Given the description of an element on the screen output the (x, y) to click on. 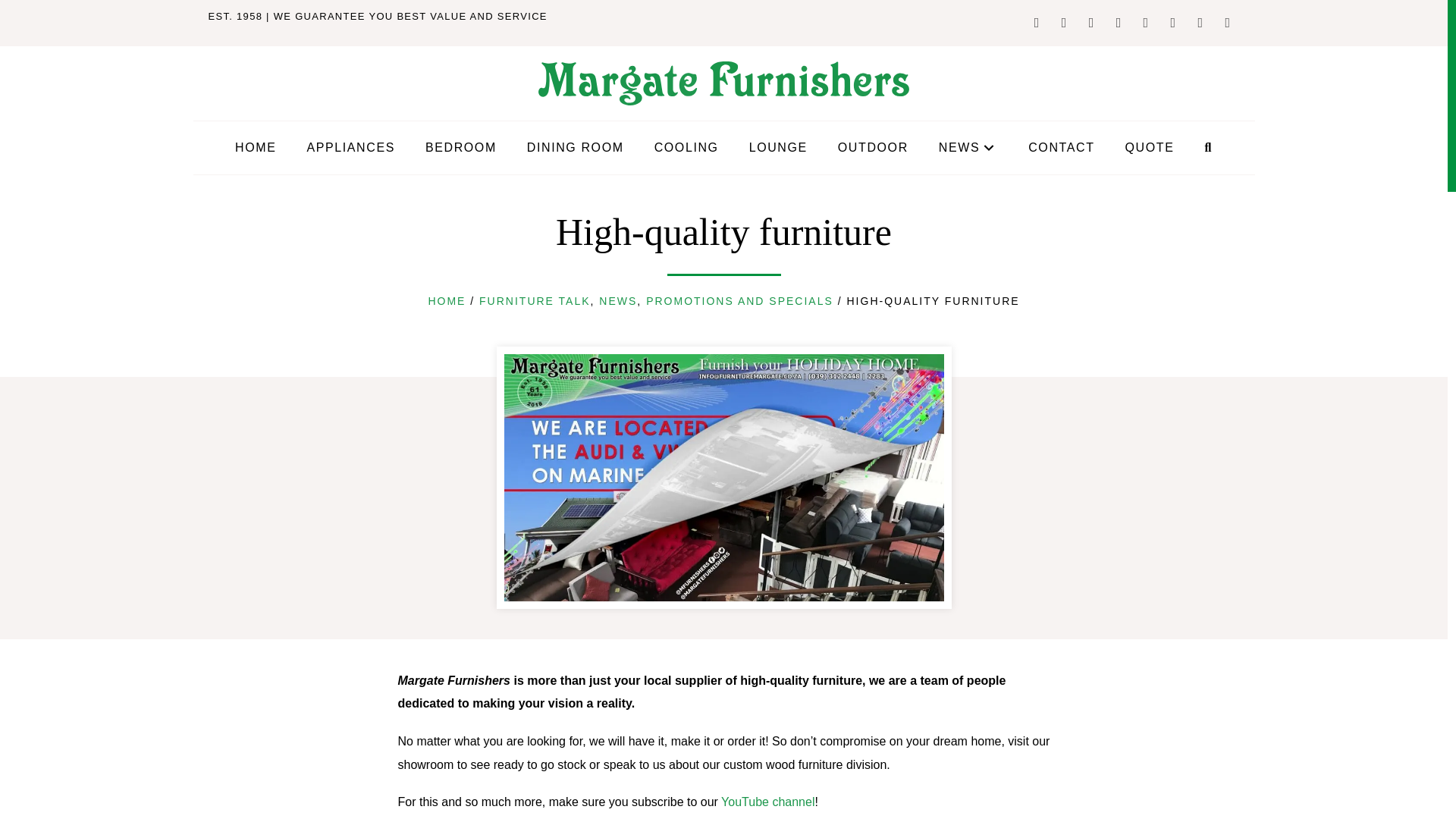
HOME (255, 147)
APPLIANCES (349, 147)
LOUNGE (778, 147)
DINING ROOM (575, 147)
OUTDOOR (872, 147)
COOLING (686, 147)
Margate Furnishers (724, 83)
NEWS (968, 147)
QUOTE (1150, 147)
BEDROOM (460, 147)
